Given the description of an element on the screen output the (x, y) to click on. 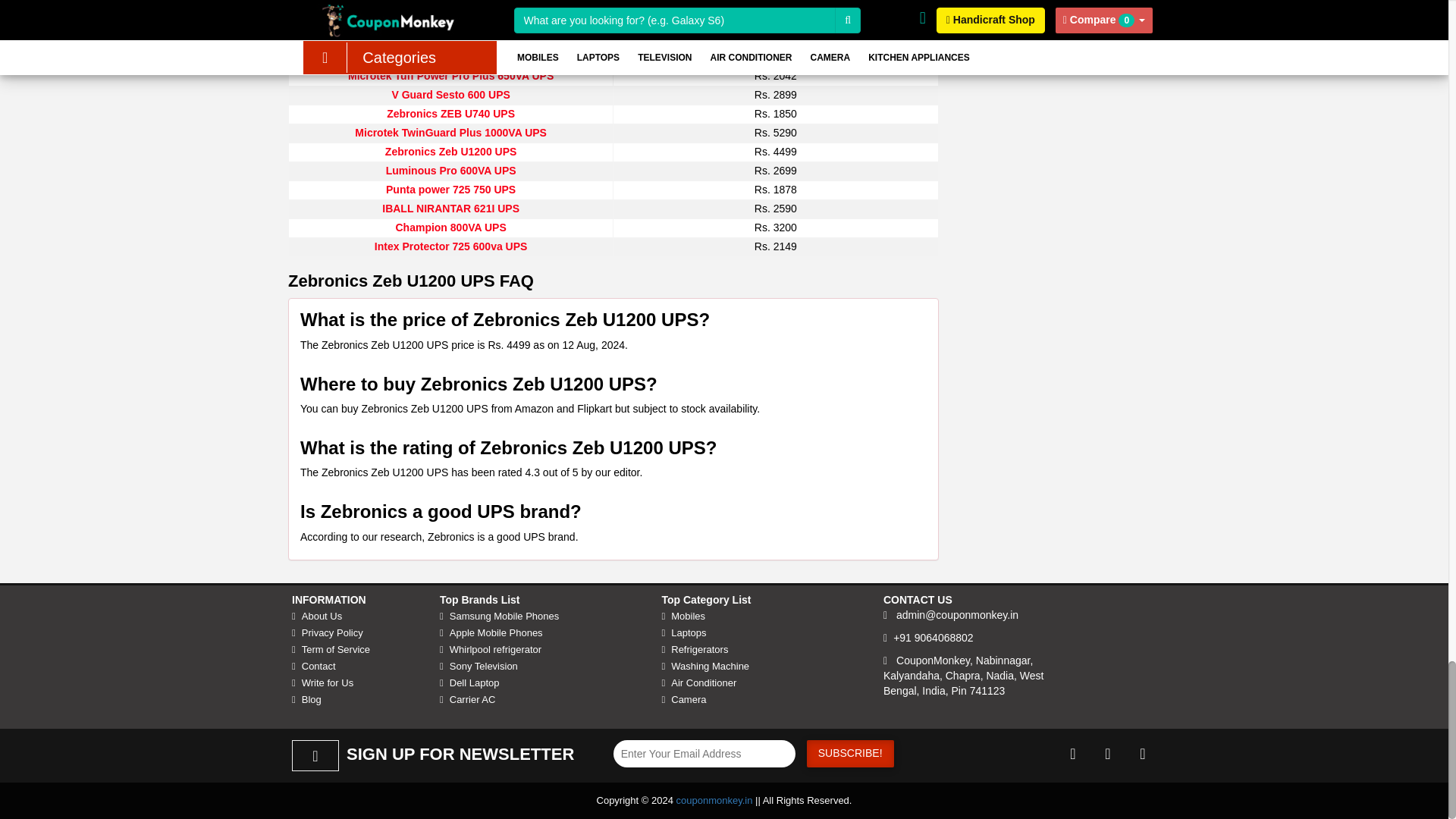
Champion 800VA UPS (449, 227)
Microtek Tuff Power Pro Plus 650VA UPS (450, 75)
Punta power 725 750 UPS (450, 189)
Microtek TwinGuard Plus 1000VA UPS (451, 132)
About Us (354, 616)
IBALL NIRANTAR 621I UPS (450, 208)
Zebronics ZEB U740 UPS (451, 113)
V Guard Sesto 600 UPS (450, 94)
Subscribe! (849, 753)
Intex Protector 725 600va UPS (450, 246)
